Given the description of an element on the screen output the (x, y) to click on. 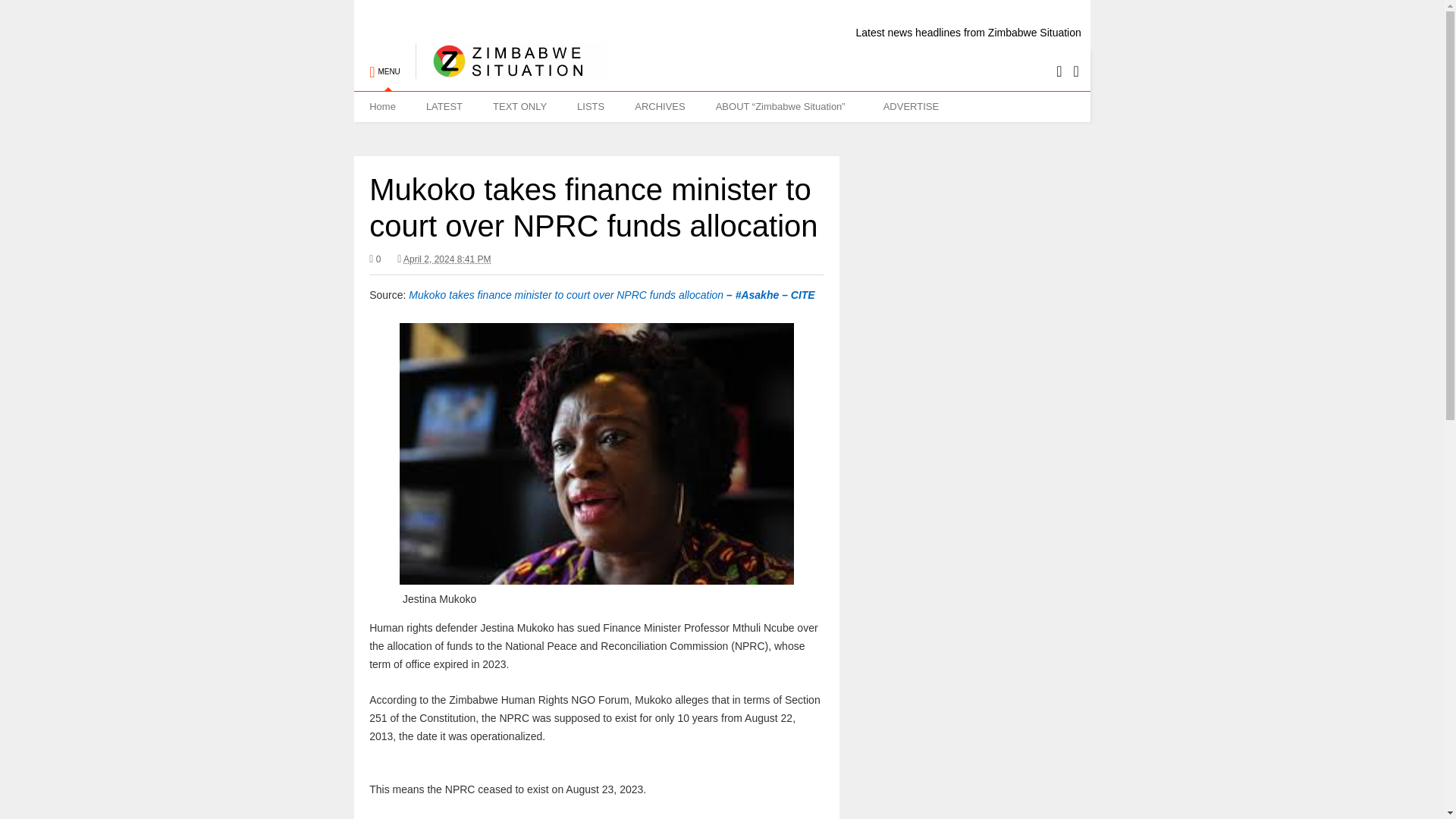
April 2, 2024 8:41 PM (443, 258)
ADVERTISE (910, 106)
April 2, 2024 8:41 PM (446, 258)
Home (381, 106)
TEXT ONLY (519, 106)
LATEST (443, 106)
MENU (383, 65)
Zimbabwe Situation (510, 71)
LISTS (591, 106)
ARCHIVES (660, 106)
